Given the description of an element on the screen output the (x, y) to click on. 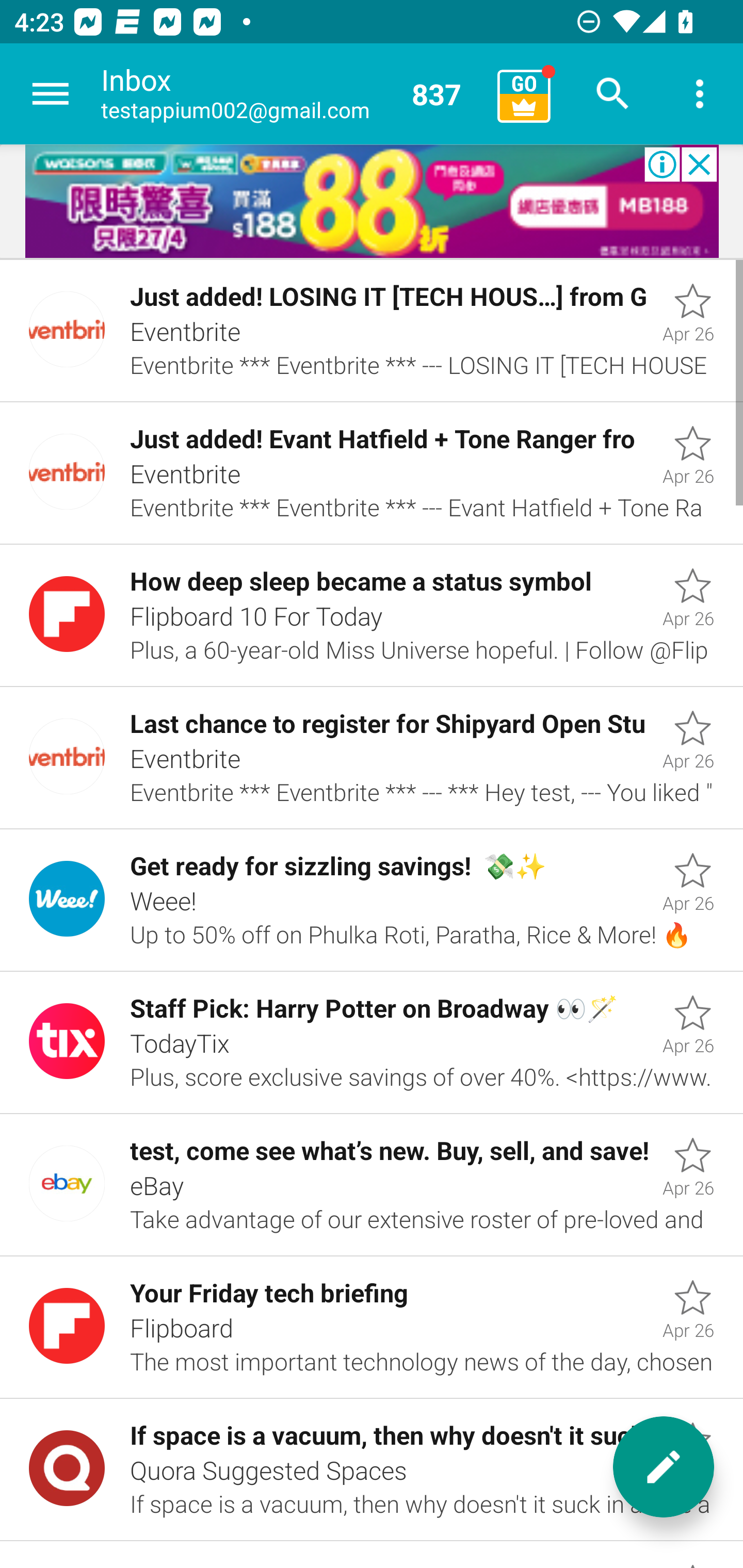
Navigate up (50, 93)
Inbox testappium002@gmail.com 837 (291, 93)
Search (612, 93)
More options (699, 93)
New message (663, 1466)
